Given the description of an element on the screen output the (x, y) to click on. 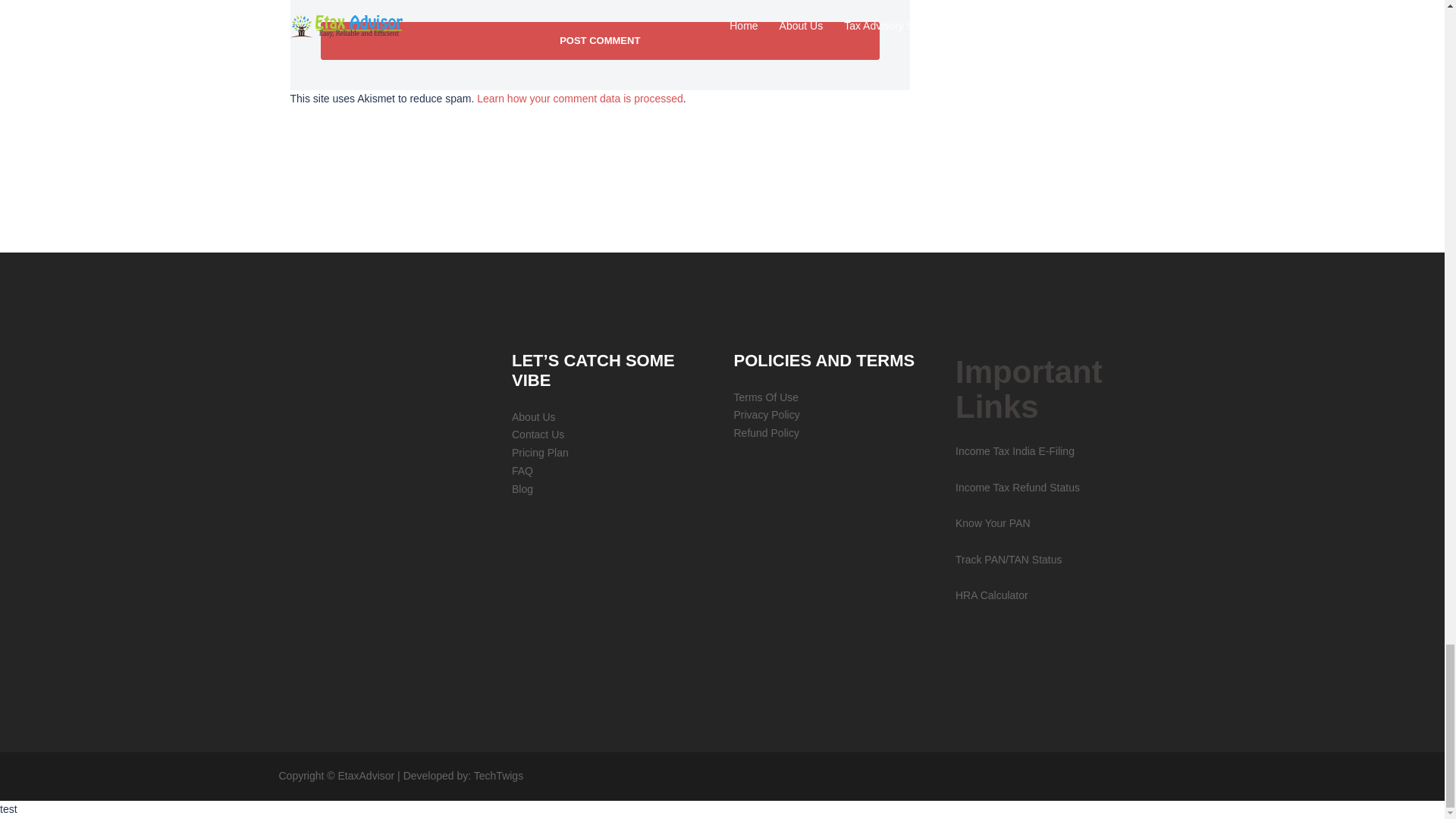
Learn how your comment data is processed (579, 98)
Contact Us (538, 434)
Post Comment (599, 40)
Terms Of Use (766, 397)
FAQ (522, 470)
Pricing Plan (540, 452)
Post Comment (599, 40)
Know Your PAN (992, 522)
HRA Calculator (991, 594)
Privacy Policy (766, 414)
Income Tax Refund Status (1017, 487)
Income Tax India E-Filing (1014, 451)
Blog (522, 489)
Refund Policy (766, 432)
About Us (534, 417)
